Given the description of an element on the screen output the (x, y) to click on. 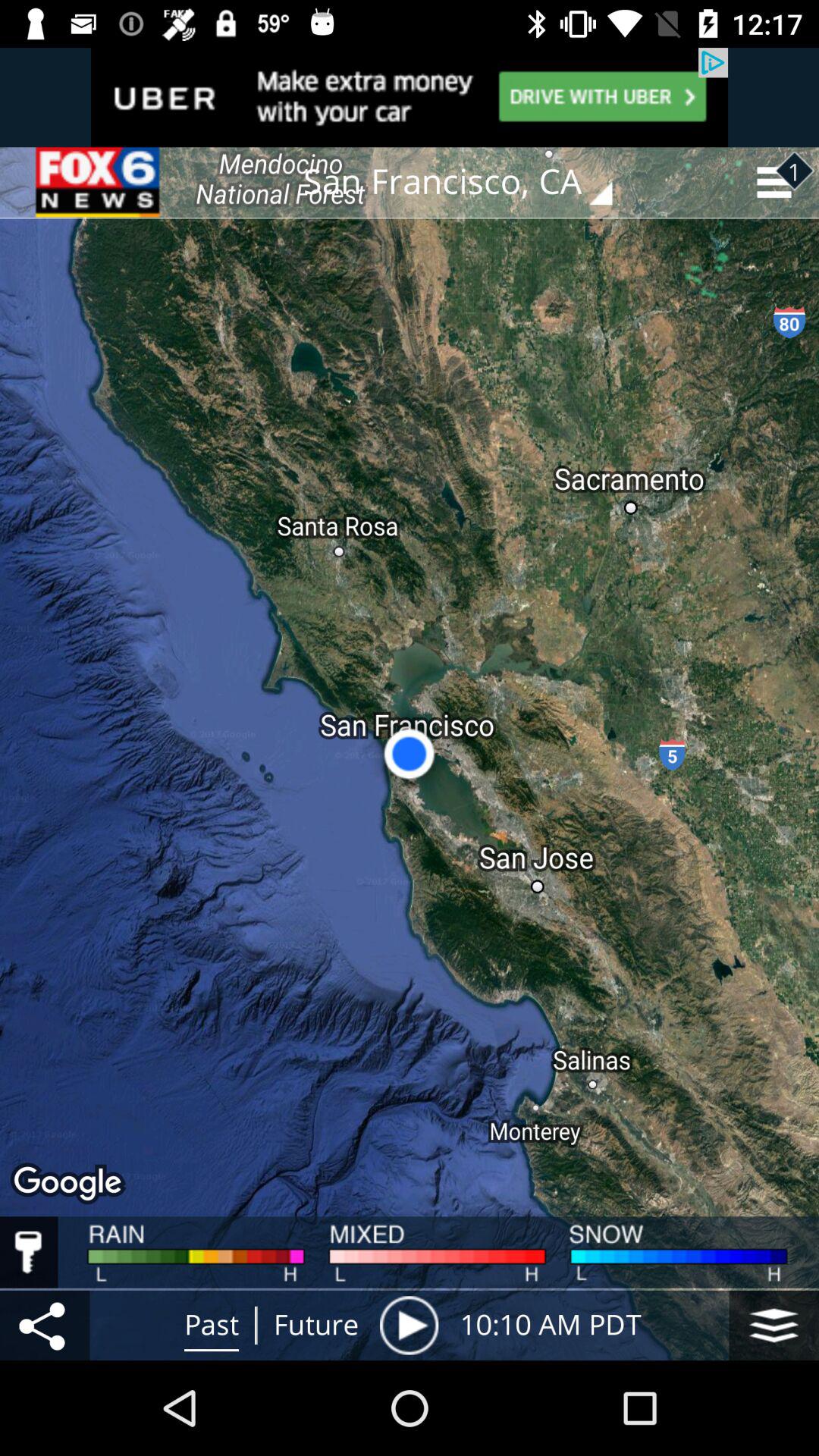
select item to the right of future item (409, 1325)
